Given the description of an element on the screen output the (x, y) to click on. 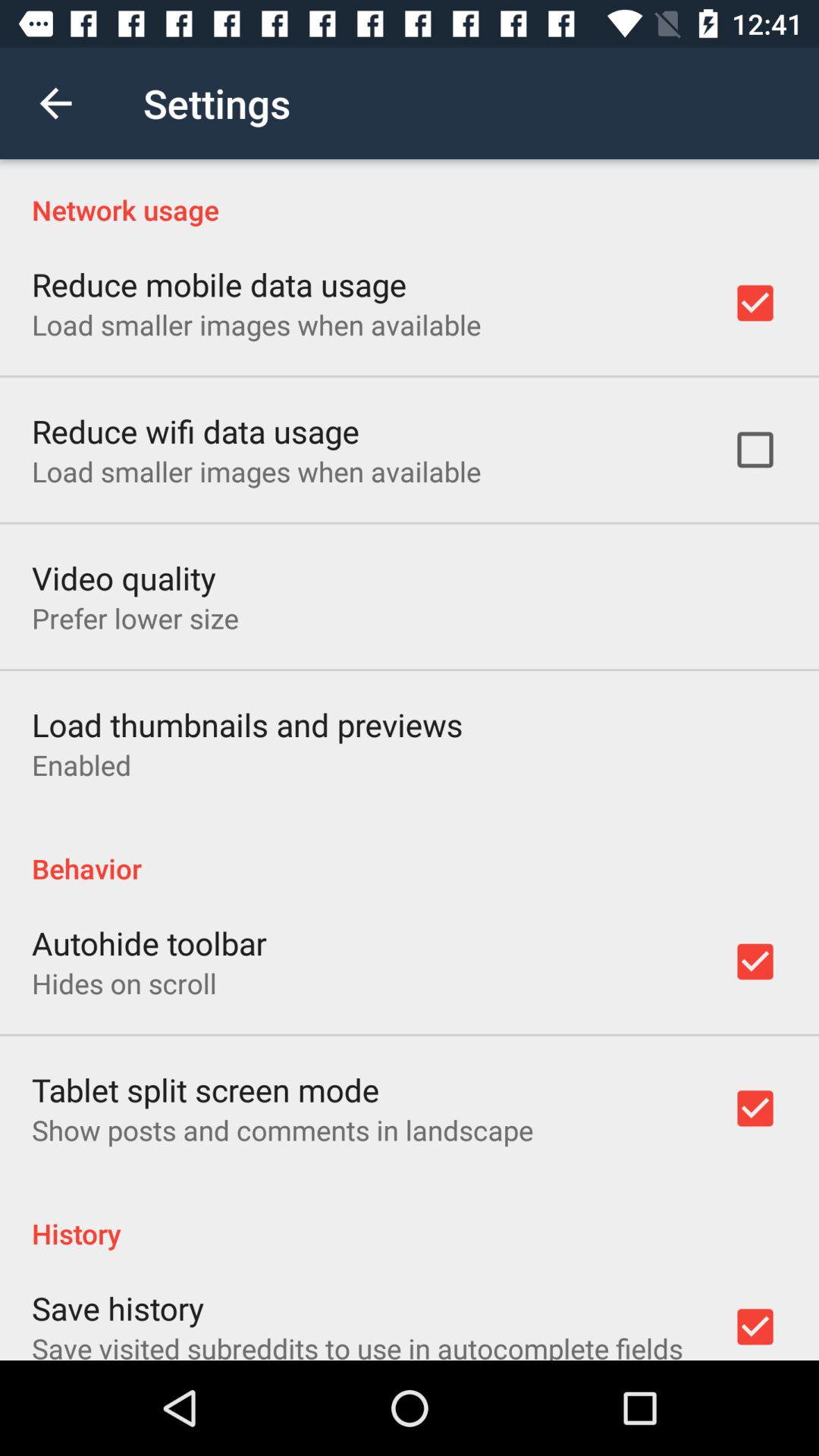
swipe to the save visited subreddits icon (357, 1344)
